Given the description of an element on the screen output the (x, y) to click on. 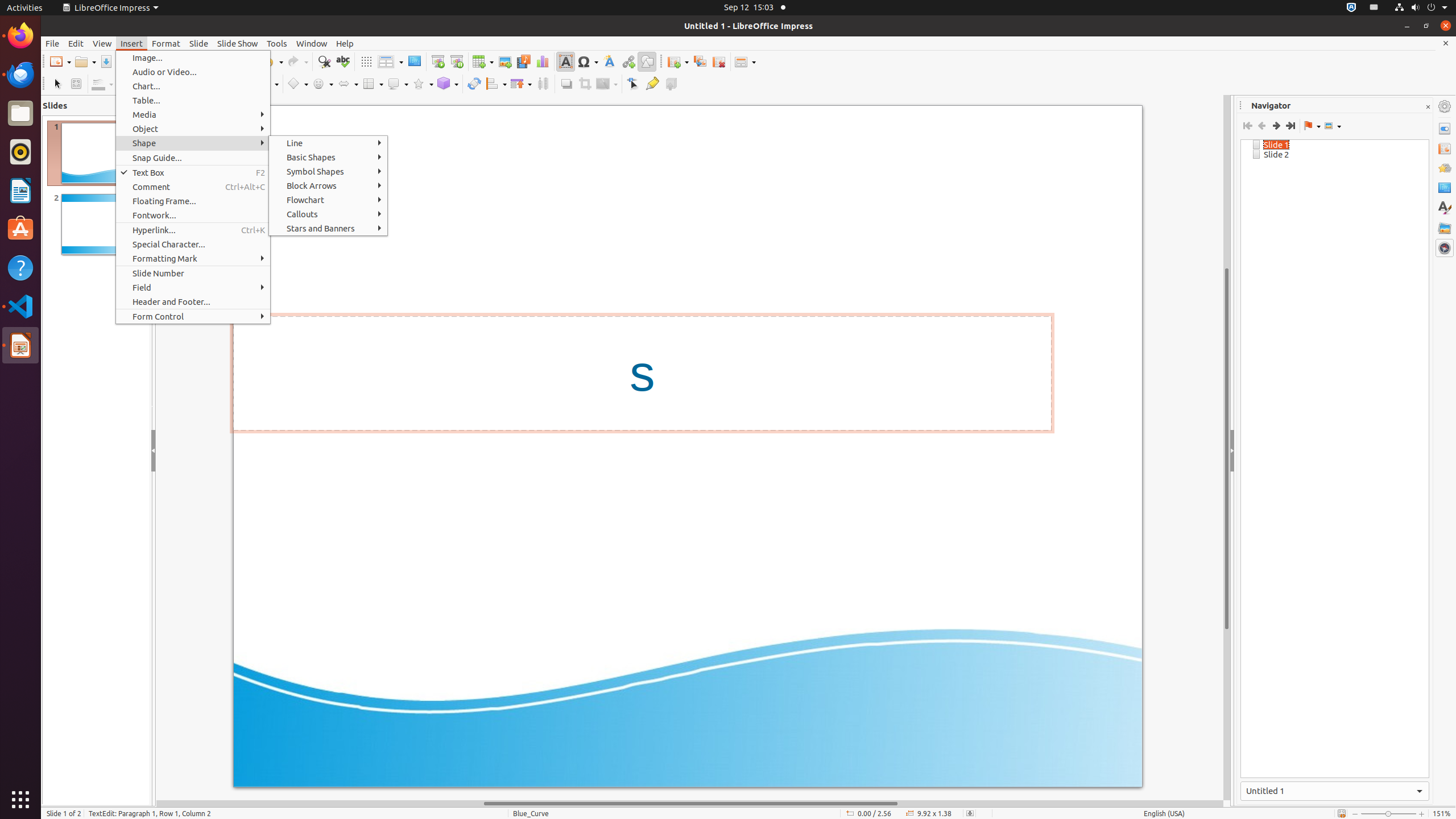
Animation Element type: radio-button (1444, 168)
Slide Show Element type: menu (237, 43)
Block Arrows Element type: menu (328, 185)
Basic Shapes Element type: menu (328, 157)
Comment Element type: menu-item (193, 186)
